Given the description of an element on the screen output the (x, y) to click on. 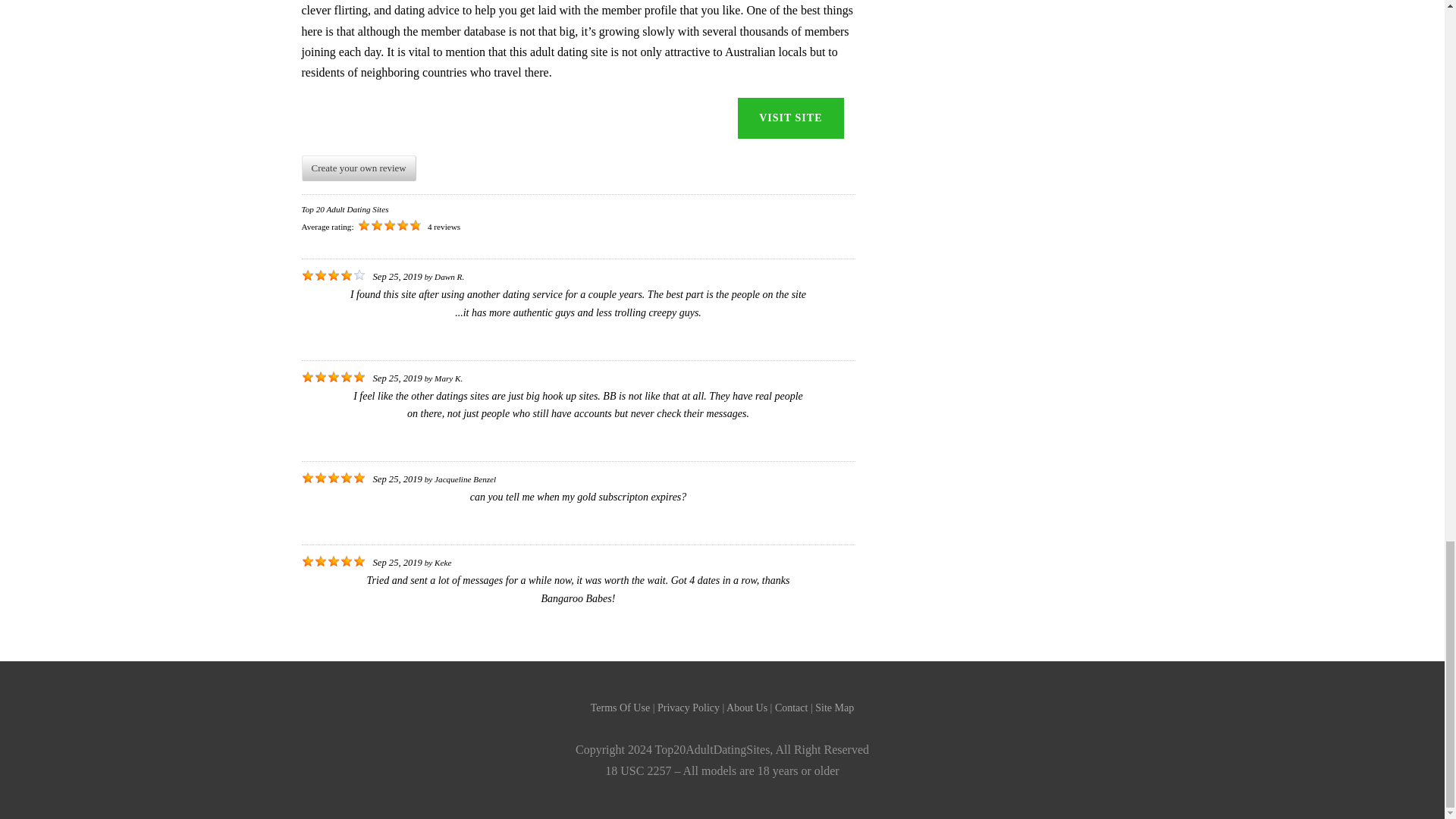
About Us (746, 707)
Terms Of Use (620, 707)
VISIT SITE (790, 117)
Privacy Policy (688, 707)
